Given the description of an element on the screen output the (x, y) to click on. 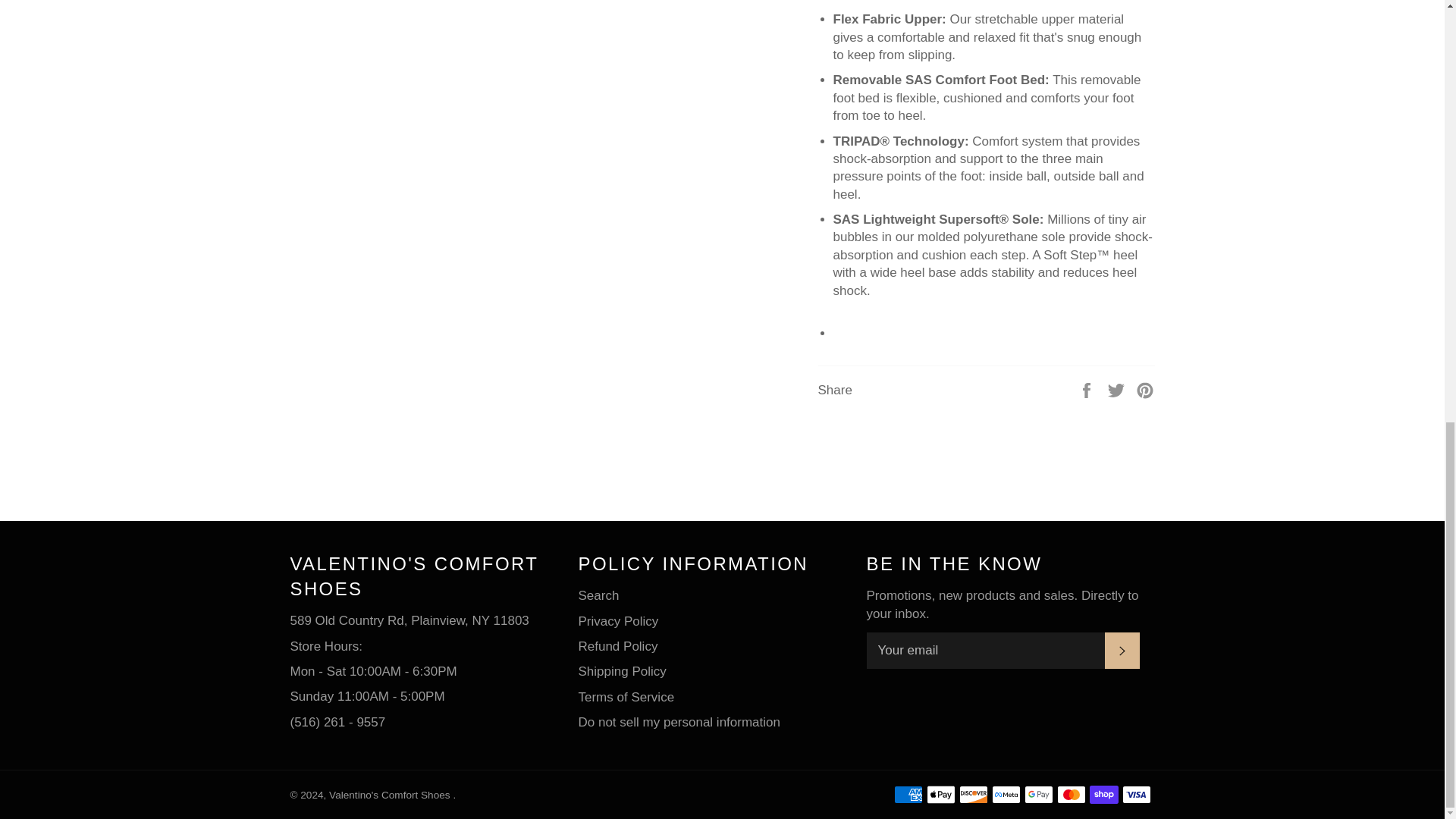
Tweet on Twitter (1117, 390)
Share on Facebook (1088, 390)
Pin on Pinterest (1144, 390)
